Given the description of an element on the screen output the (x, y) to click on. 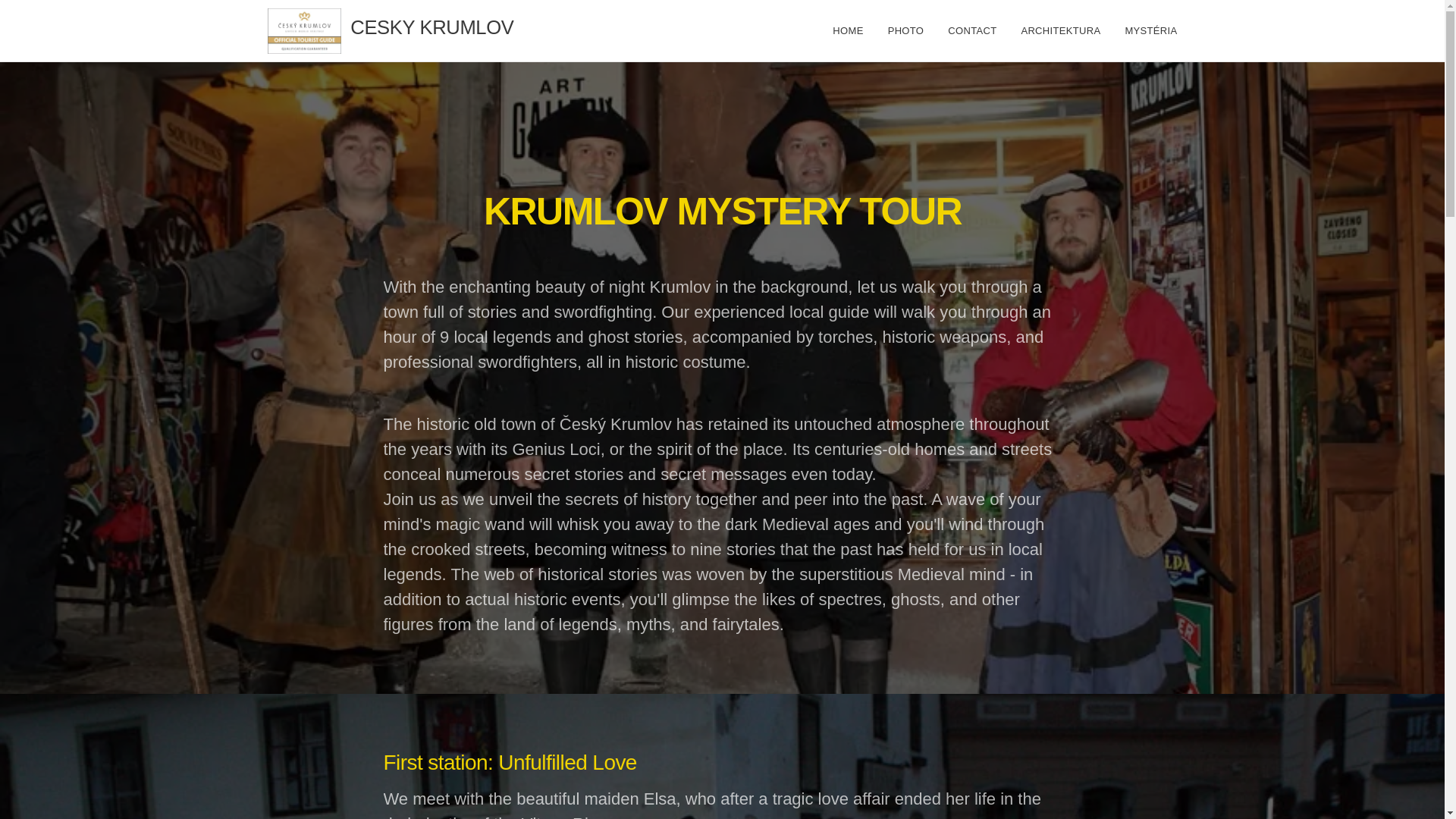
CESKY KRUMLOV TOURS (427, 30)
HOME (851, 30)
CONTACT (972, 30)
PHOTO (906, 30)
ARCHITEKTURA (1060, 30)
